Given the description of an element on the screen output the (x, y) to click on. 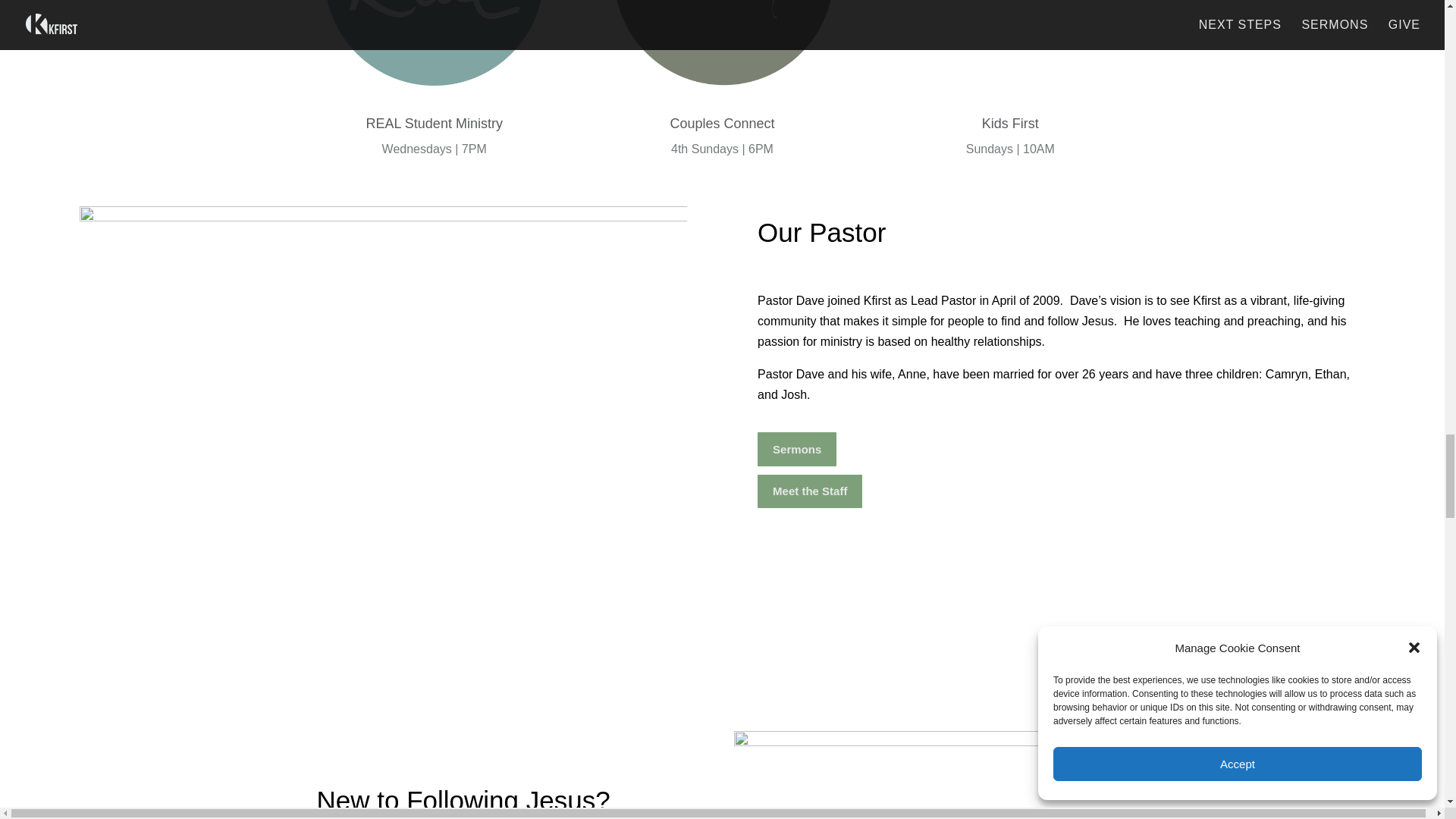
Sermons (796, 449)
Meet the Staff (809, 491)
Couples Connect (721, 48)
